Given the description of an element on the screen output the (x, y) to click on. 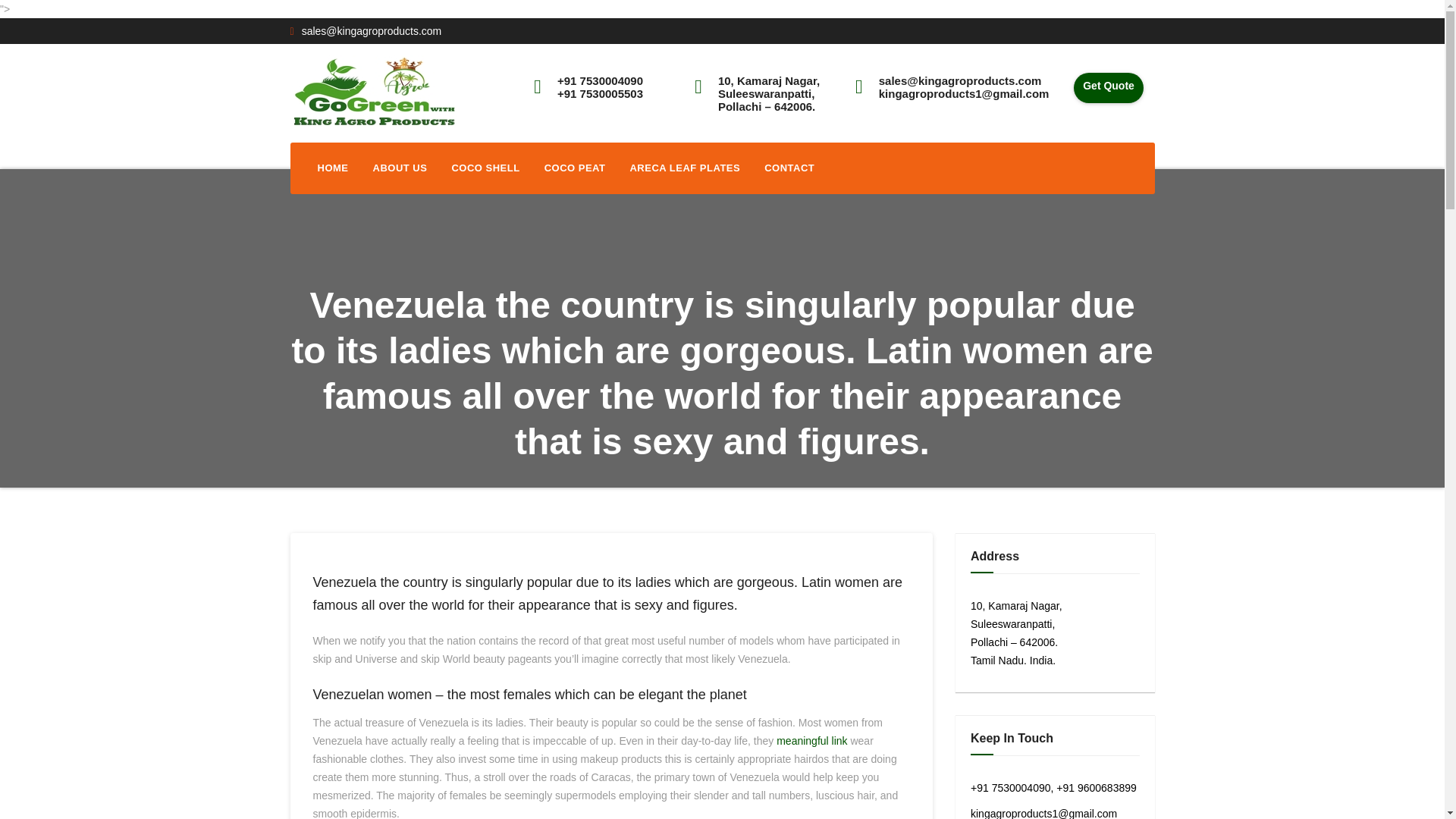
COCO PEAT (574, 168)
About Us (400, 168)
COCO SHELL (485, 168)
Home (331, 168)
CONTACT (789, 168)
Areca Leaf Plates (684, 168)
ABOUT US (400, 168)
Contact (789, 168)
ARECA LEAF PLATES (684, 168)
Coco Shell (485, 168)
HOME (331, 168)
Get Quote (1108, 88)
meaningful link (811, 740)
Coco Peat (574, 168)
